Given the description of an element on the screen output the (x, y) to click on. 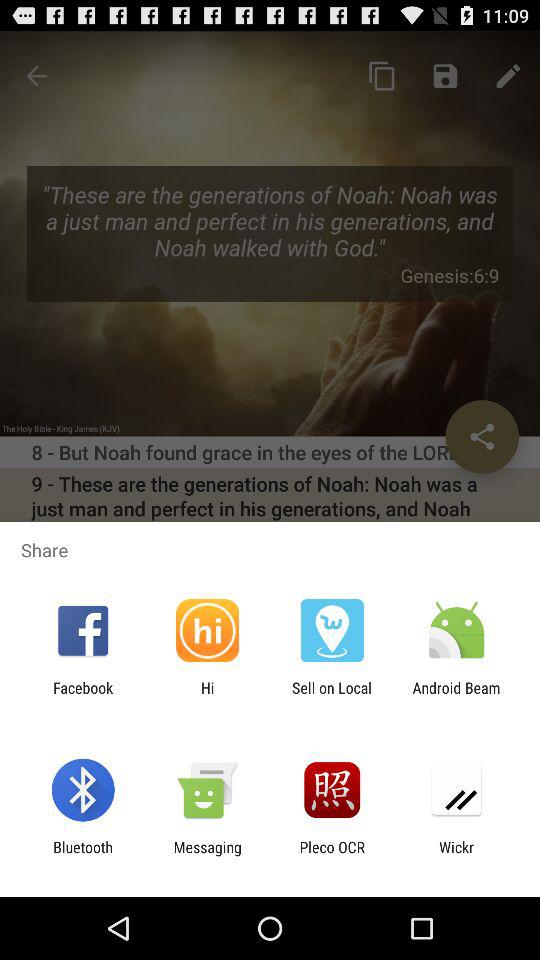
select app to the right of facebook icon (207, 696)
